Given the description of an element on the screen output the (x, y) to click on. 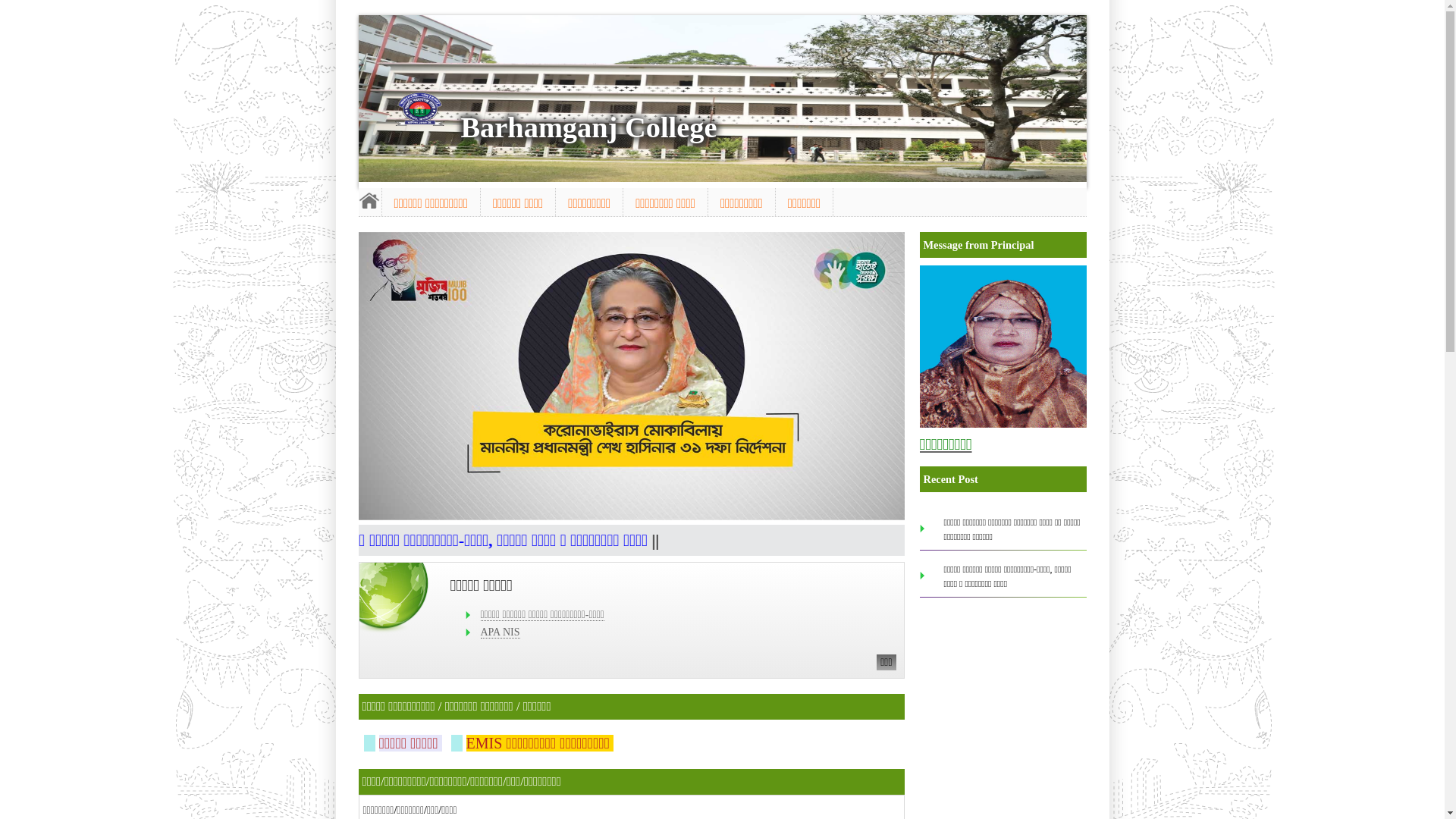
Home Element type: hover (368, 199)
Barhamganj College Element type: text (589, 127)
Home Element type: hover (418, 108)
APA NIS Element type: text (500, 632)
